Given the description of an element on the screen output the (x, y) to click on. 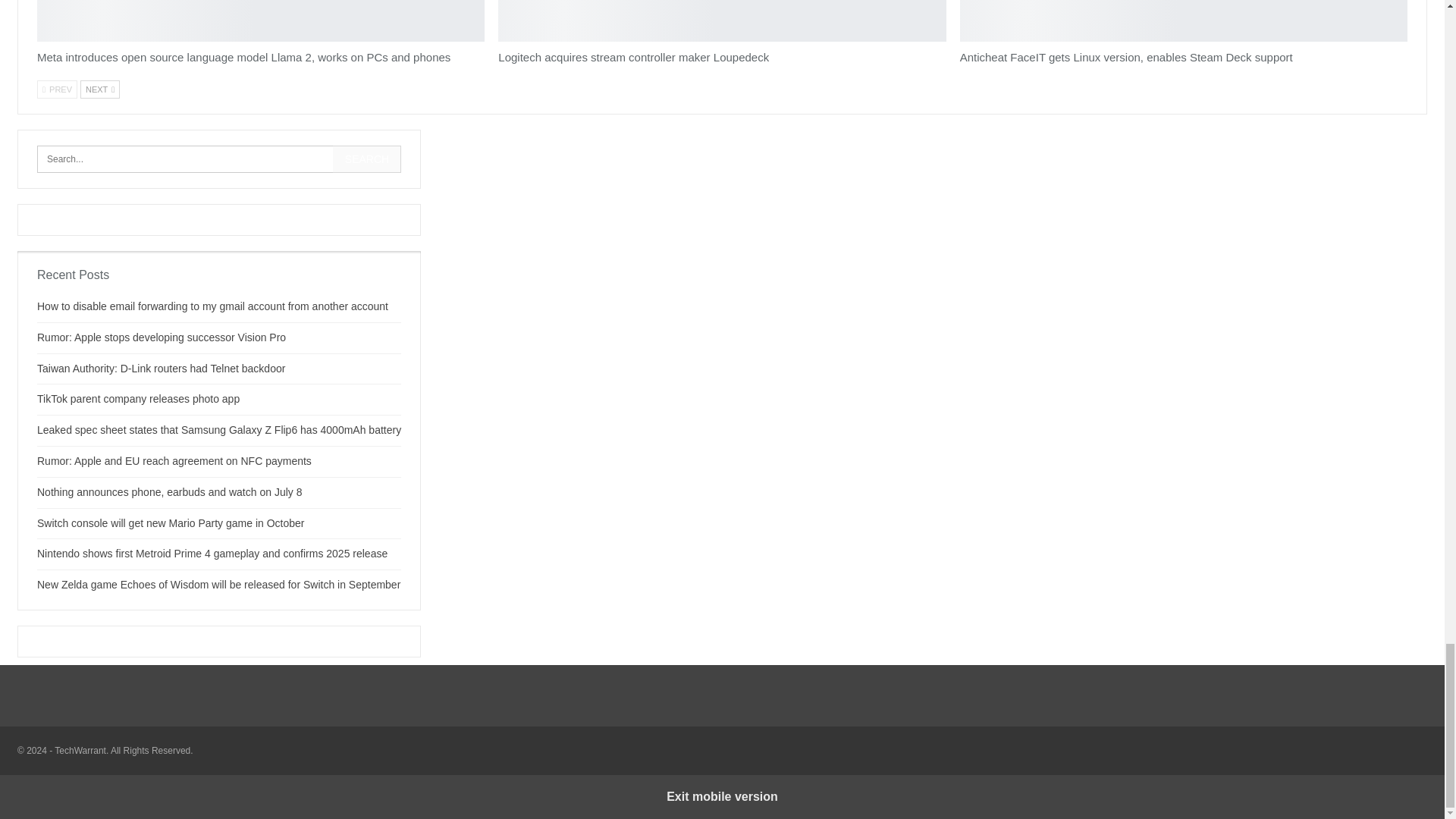
Search (367, 158)
Search (367, 158)
